Given the description of an element on the screen output the (x, y) to click on. 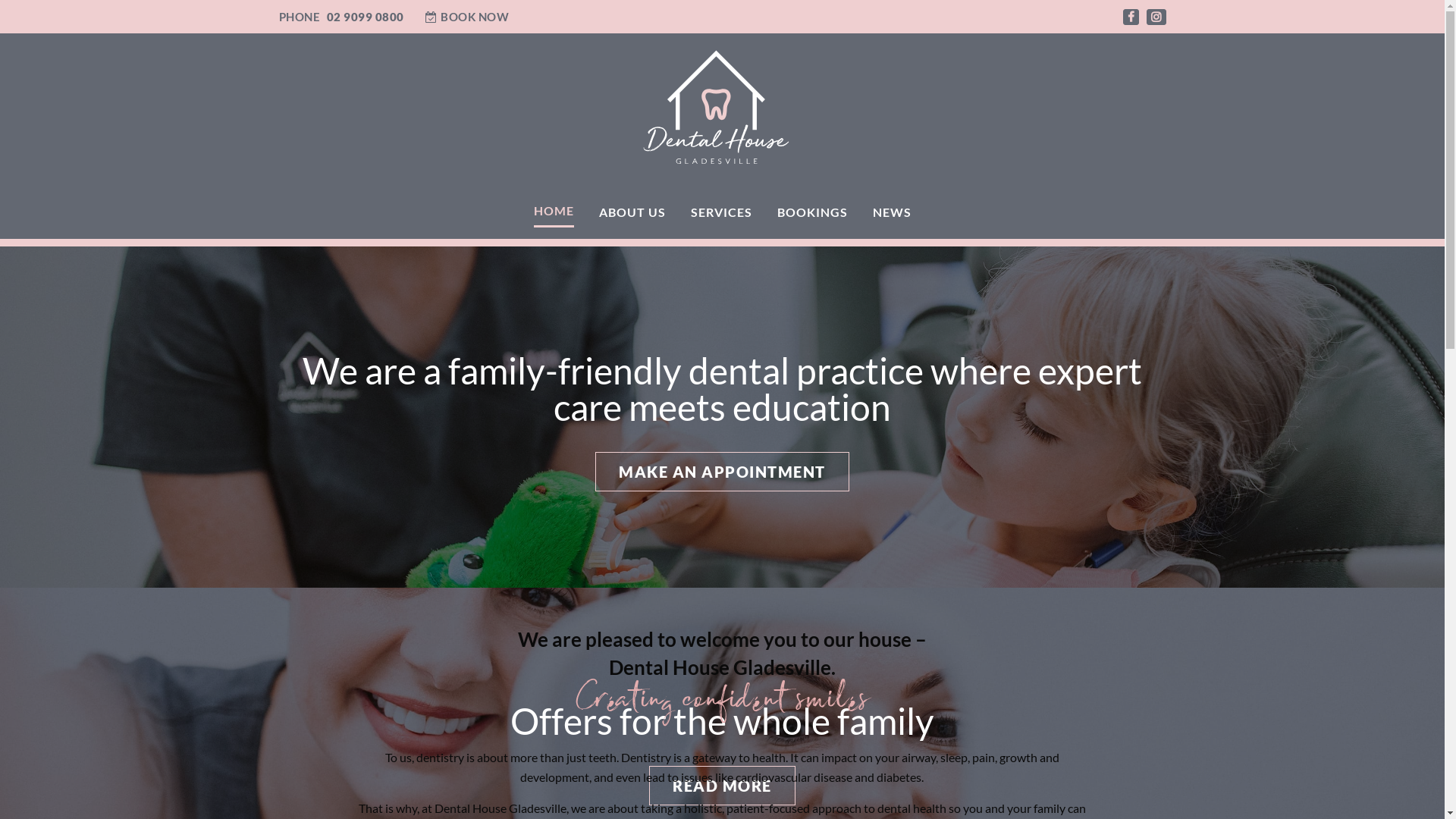
NEWS Element type: text (891, 211)
02 9099 0800 Element type: text (364, 16)
READ MORE Element type: text (722, 785)
BOOK NOW Element type: text (466, 16)
MAKE AN APPOINTMENT Element type: text (722, 471)
BOOKINGS Element type: text (811, 211)
HOME Element type: text (553, 211)
ABOUT US Element type: text (632, 211)
SERVICES Element type: text (720, 211)
